Given the description of an element on the screen output the (x, y) to click on. 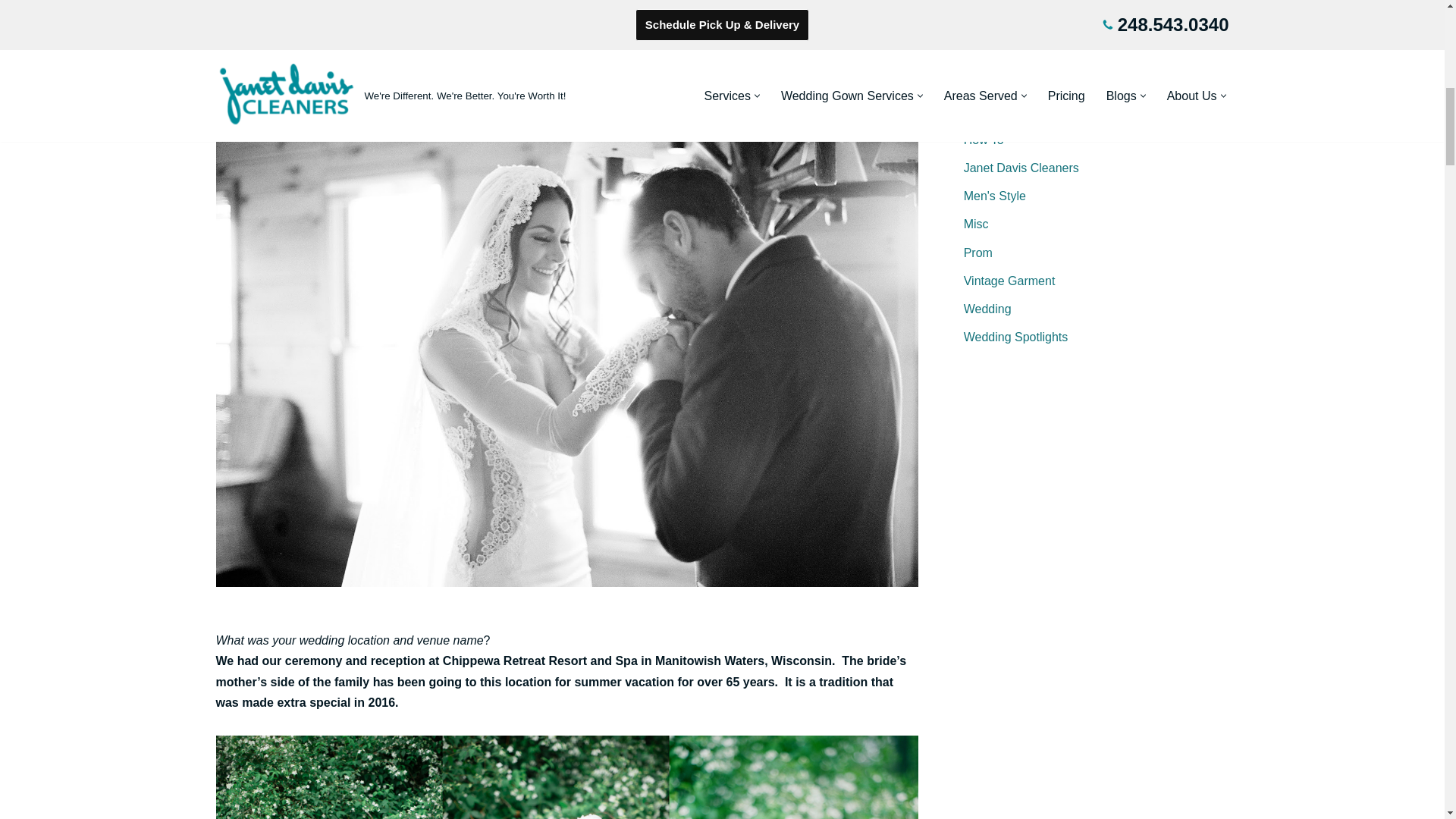
Bride Portraits - Janet Davis Dry Cleaners (566, 777)
